Given the description of an element on the screen output the (x, y) to click on. 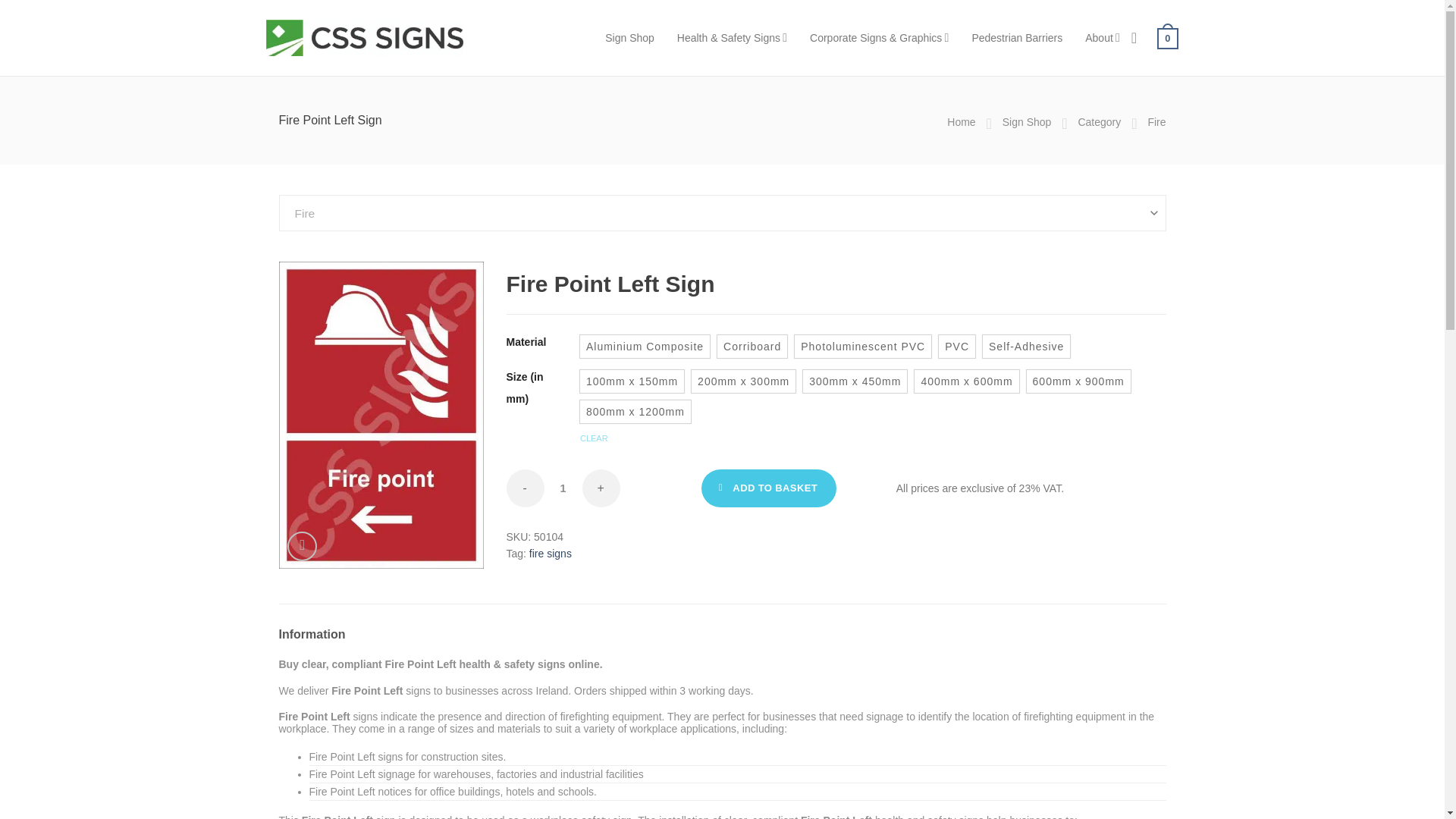
1 (563, 487)
Aluminium Composite (644, 345)
Self-Adhesive (1026, 345)
Home (961, 121)
- (525, 487)
200mm x 300mm (742, 381)
100mm x 150mm (631, 381)
Fire (1156, 121)
fire signs (550, 553)
CLEAR (593, 438)
